Given the description of an element on the screen output the (x, y) to click on. 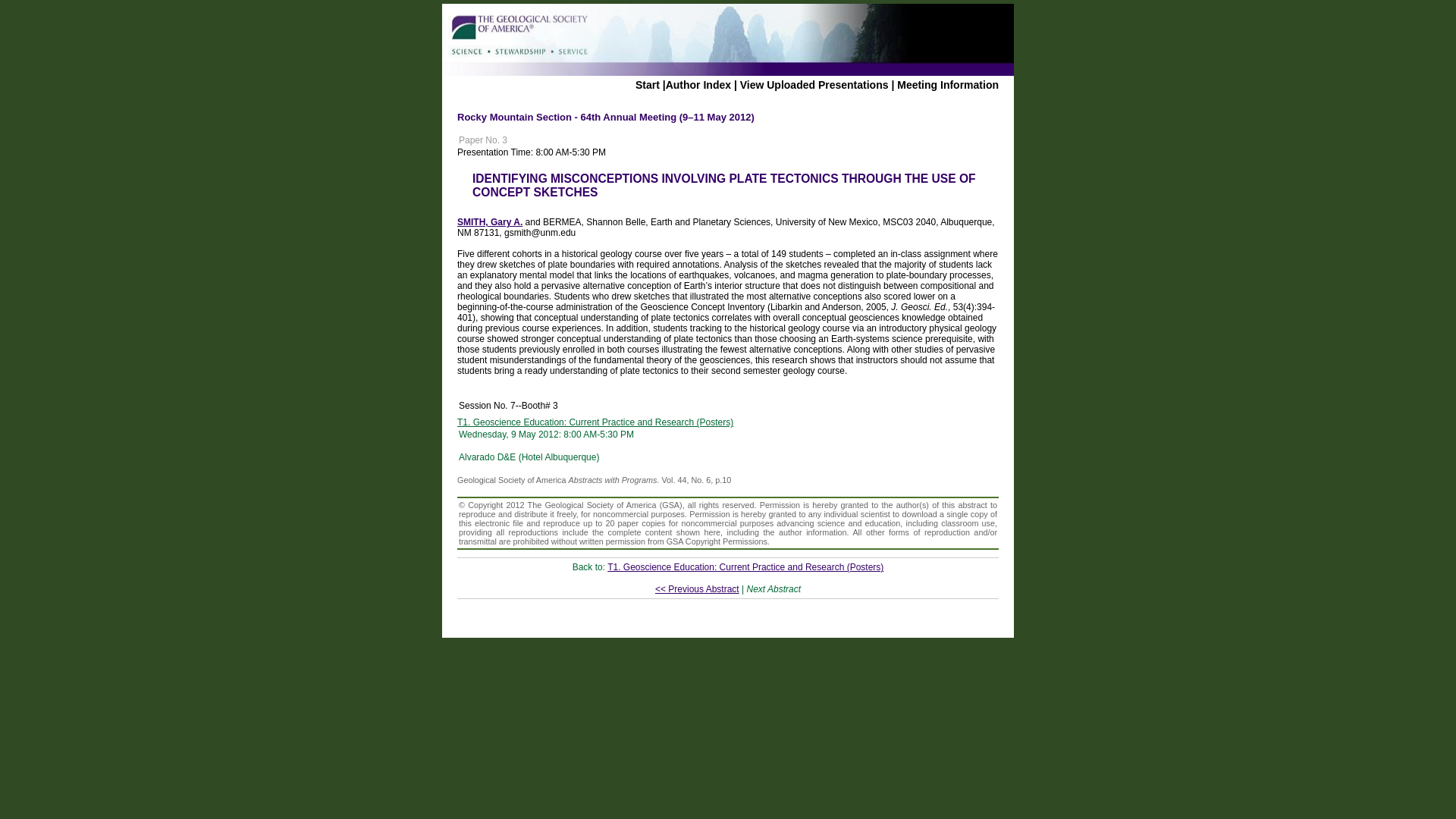
Start (646, 84)
SMITH, Gary A. (489, 222)
View Uploaded Presentations (813, 84)
Meeting Information (947, 84)
Author Index (697, 84)
